Given the description of an element on the screen output the (x, y) to click on. 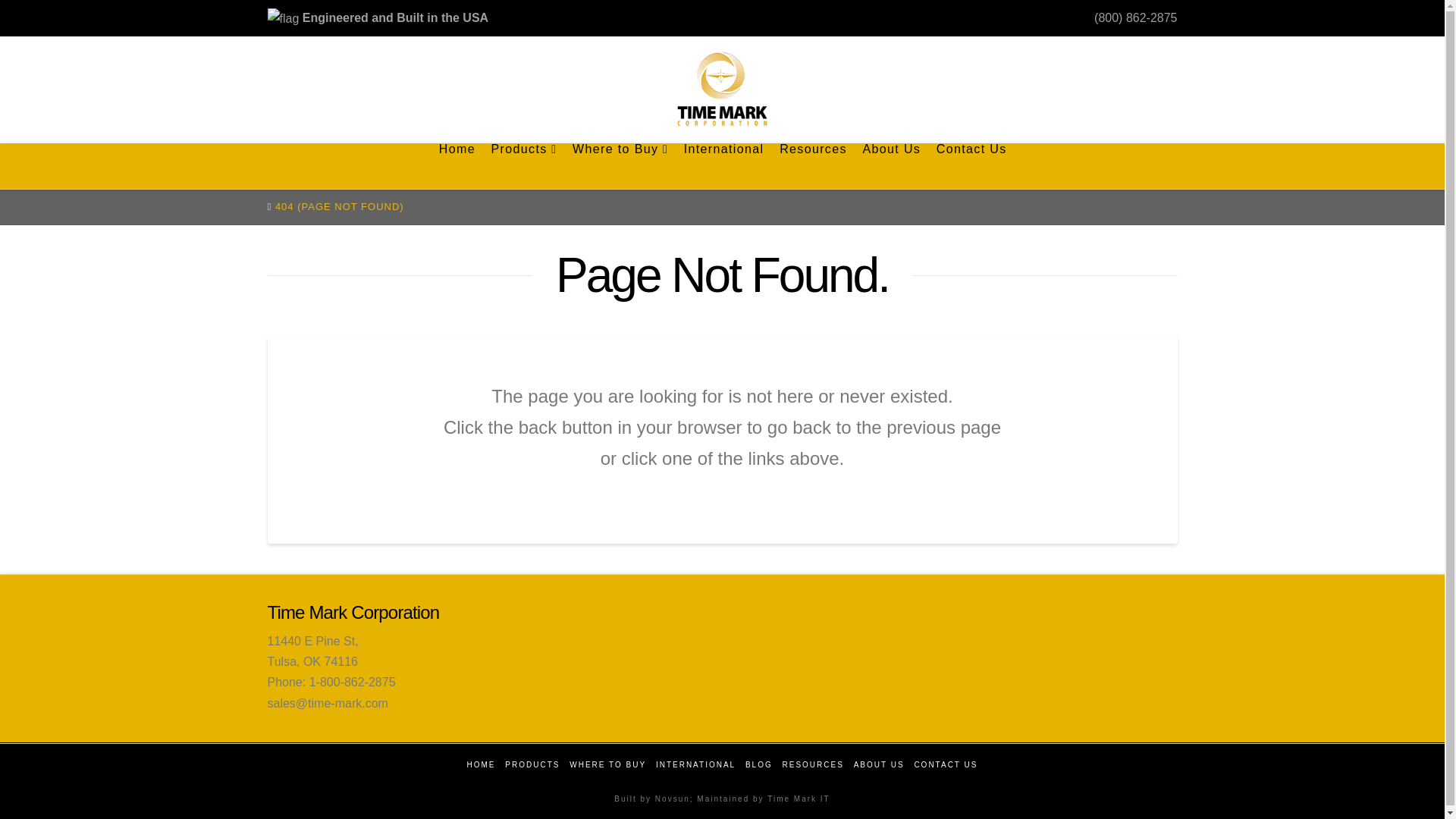
Resources (812, 166)
Products (523, 166)
About Us (890, 166)
Contact Us (970, 166)
Where to Buy (619, 166)
Home (456, 166)
TimeMark Home (722, 88)
International (723, 166)
Contact Us (970, 166)
